Given the description of an element on the screen output the (x, y) to click on. 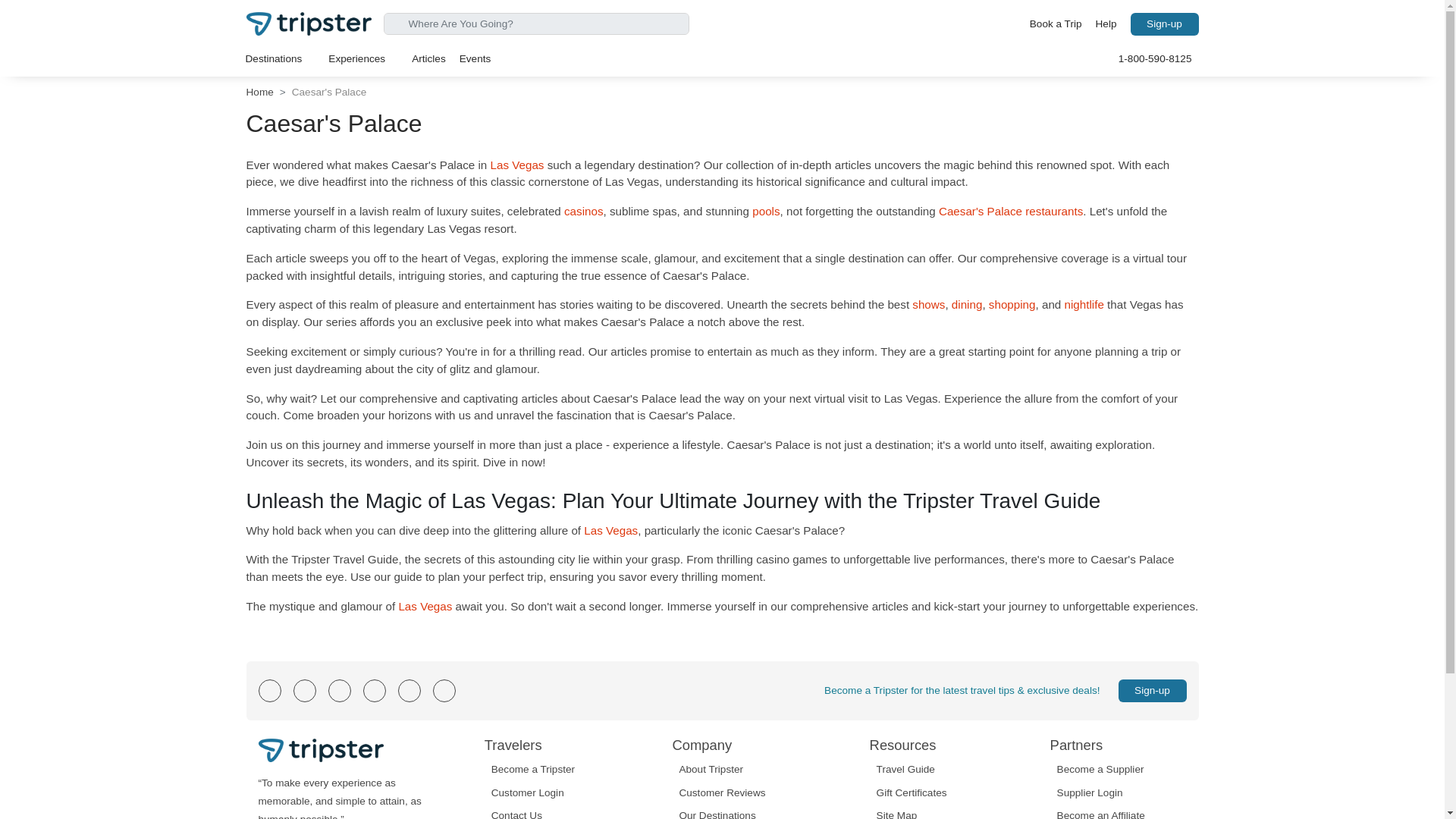
Events (474, 58)
Articles (428, 58)
Experiences (362, 58)
Home (259, 91)
Book a Trip (1056, 24)
1-800-590-8125 (1155, 58)
Help (1106, 24)
Destinations (279, 58)
pools (765, 210)
Las Vegas (516, 164)
